Given the description of an element on the screen output the (x, y) to click on. 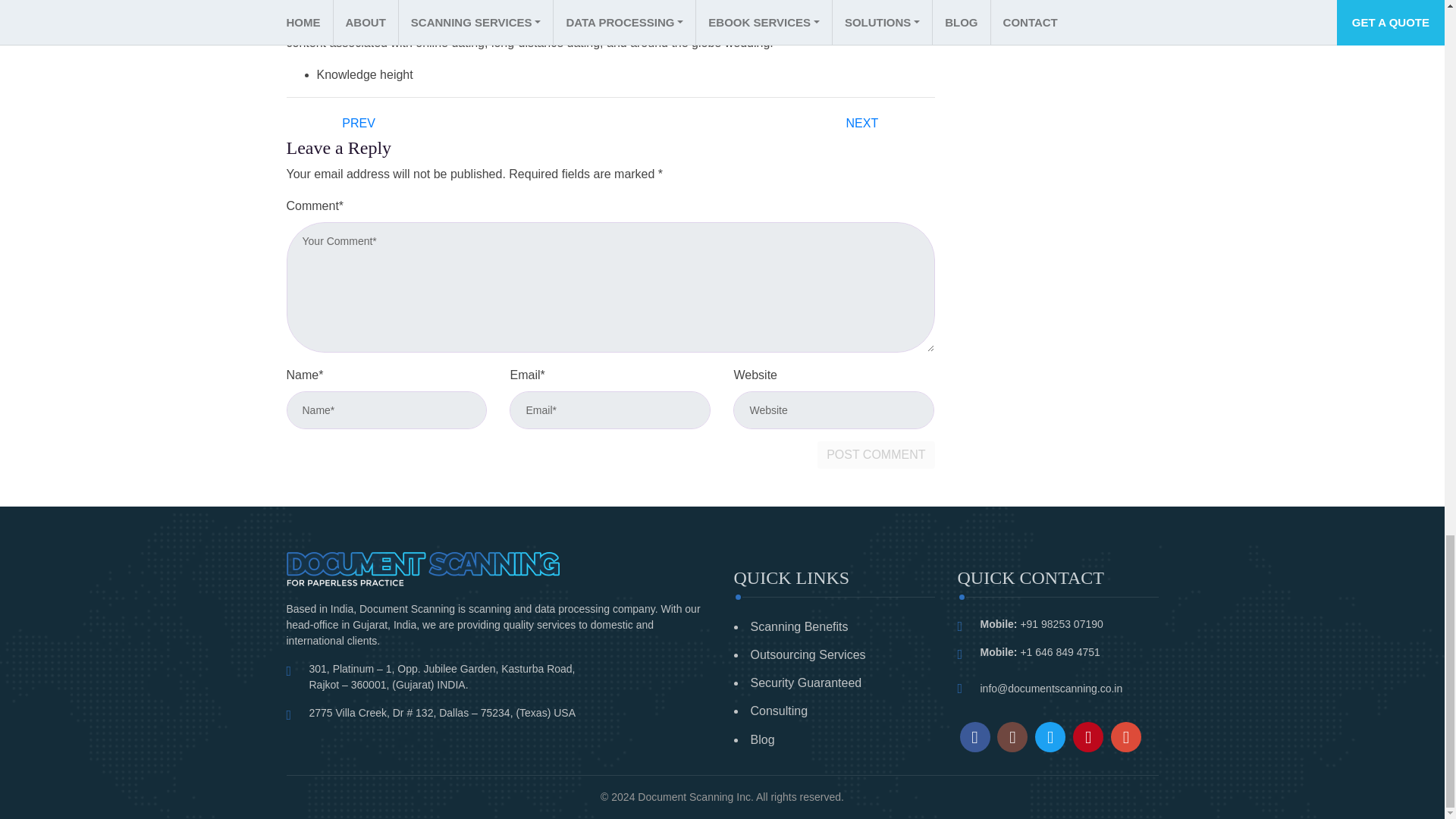
Post Comment (875, 454)
NEXT (862, 122)
PREV (358, 122)
Post Comment (875, 454)
